Given the description of an element on the screen output the (x, y) to click on. 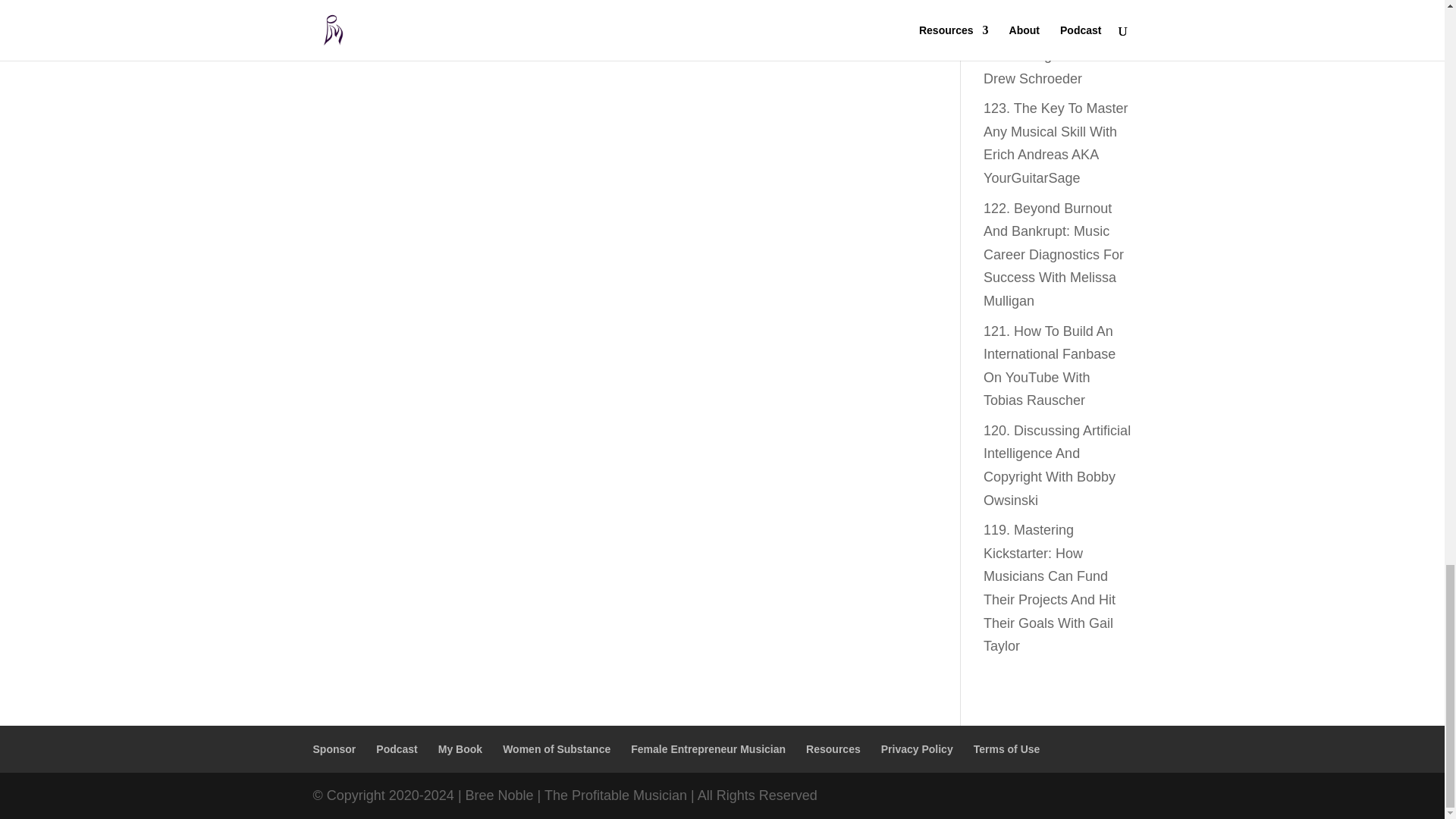
Resources (833, 748)
Podcast (395, 748)
My Book (459, 748)
Sponsor (334, 748)
Female Entrepreneur Musician (708, 748)
Women of Substance (556, 748)
Privacy Policy (916, 748)
Terms of Use (1007, 748)
